Given the description of an element on the screen output the (x, y) to click on. 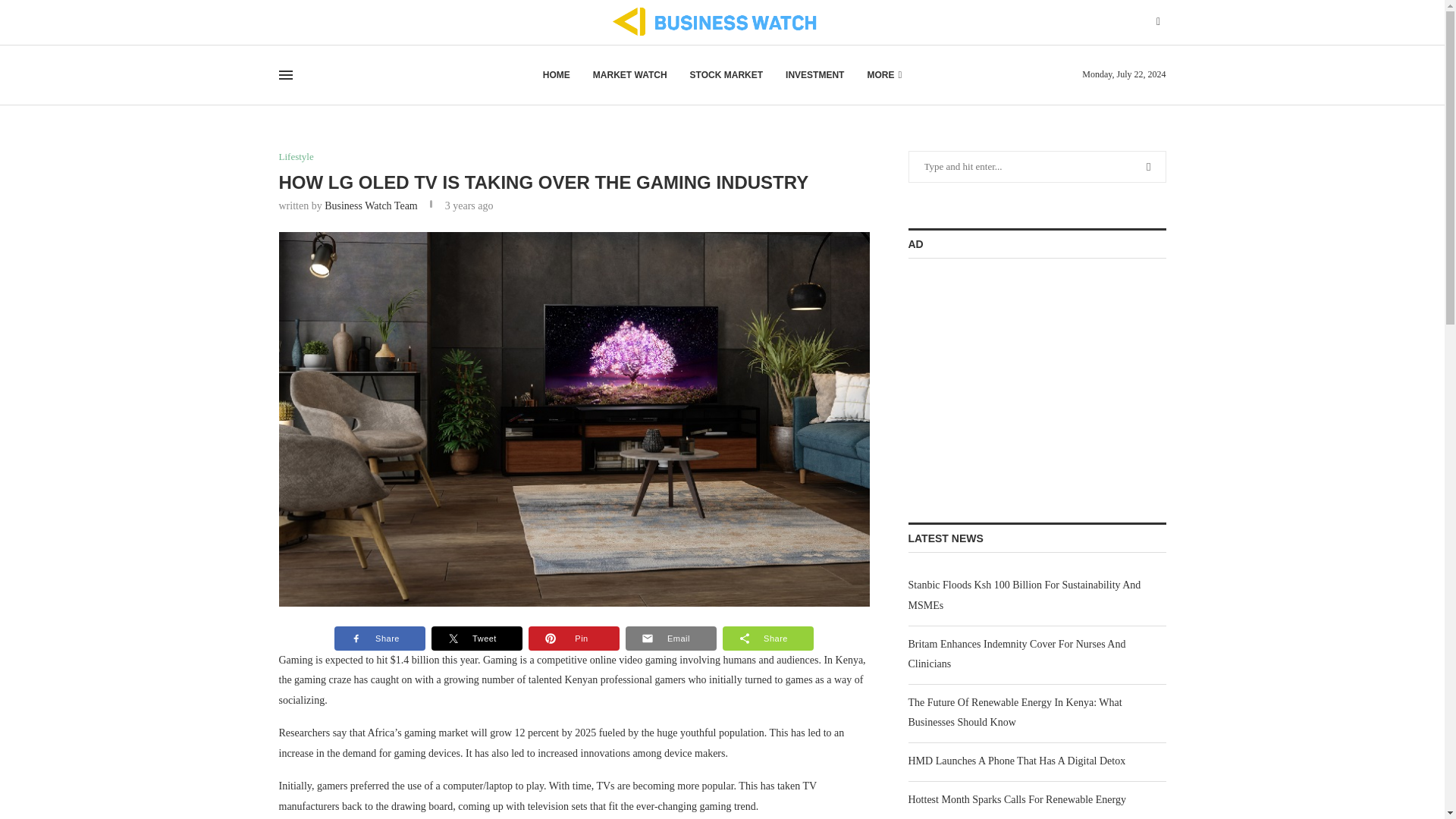
STOCK MARKET (726, 75)
Advertisement (1021, 375)
INVESTMENT (815, 75)
MARKET WATCH (629, 75)
